Given the description of an element on the screen output the (x, y) to click on. 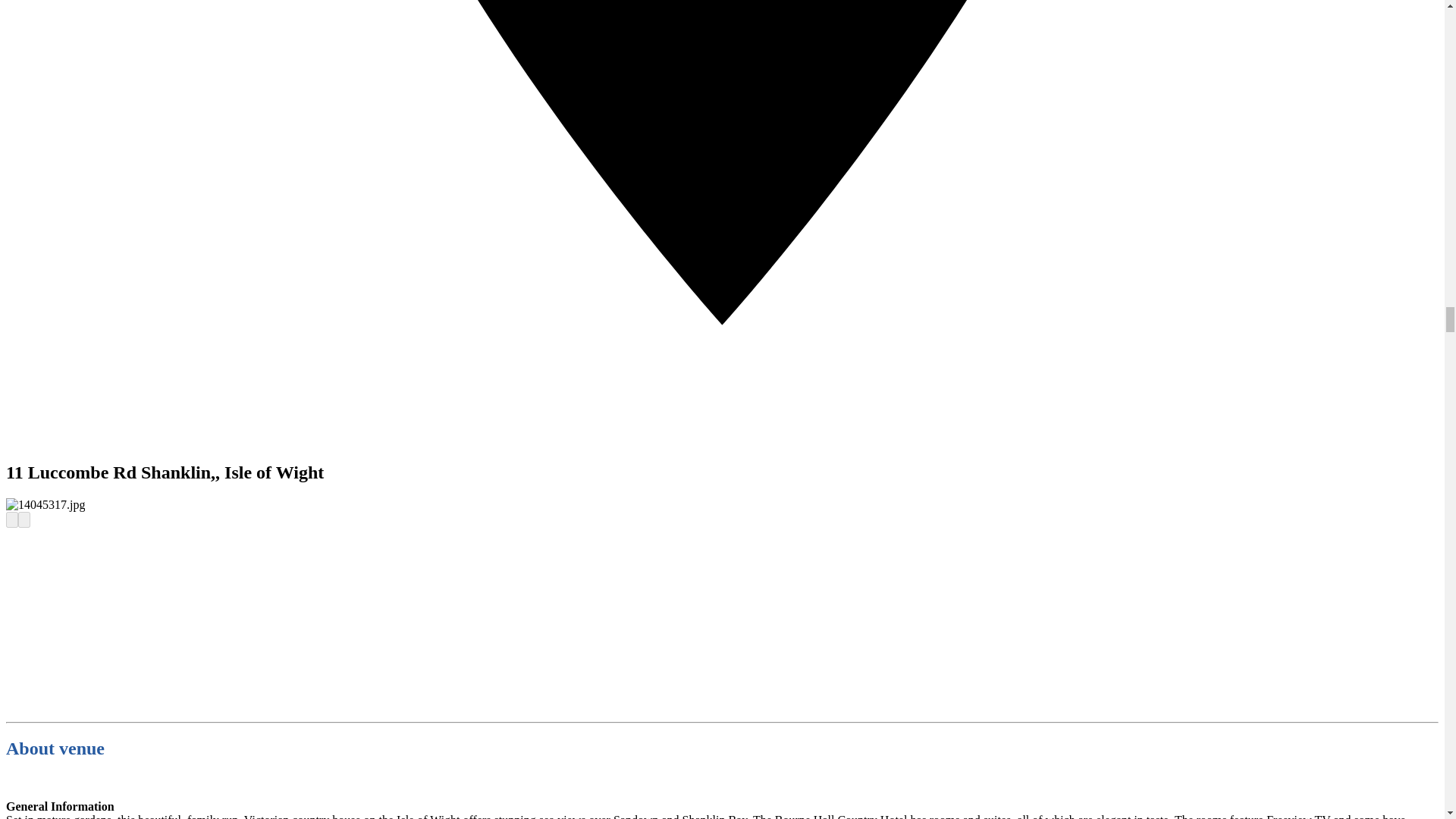
20e82dc3-d175-4064-ae61-3ec0387222b7.jpg (44, 504)
